Given the description of an element on the screen output the (x, y) to click on. 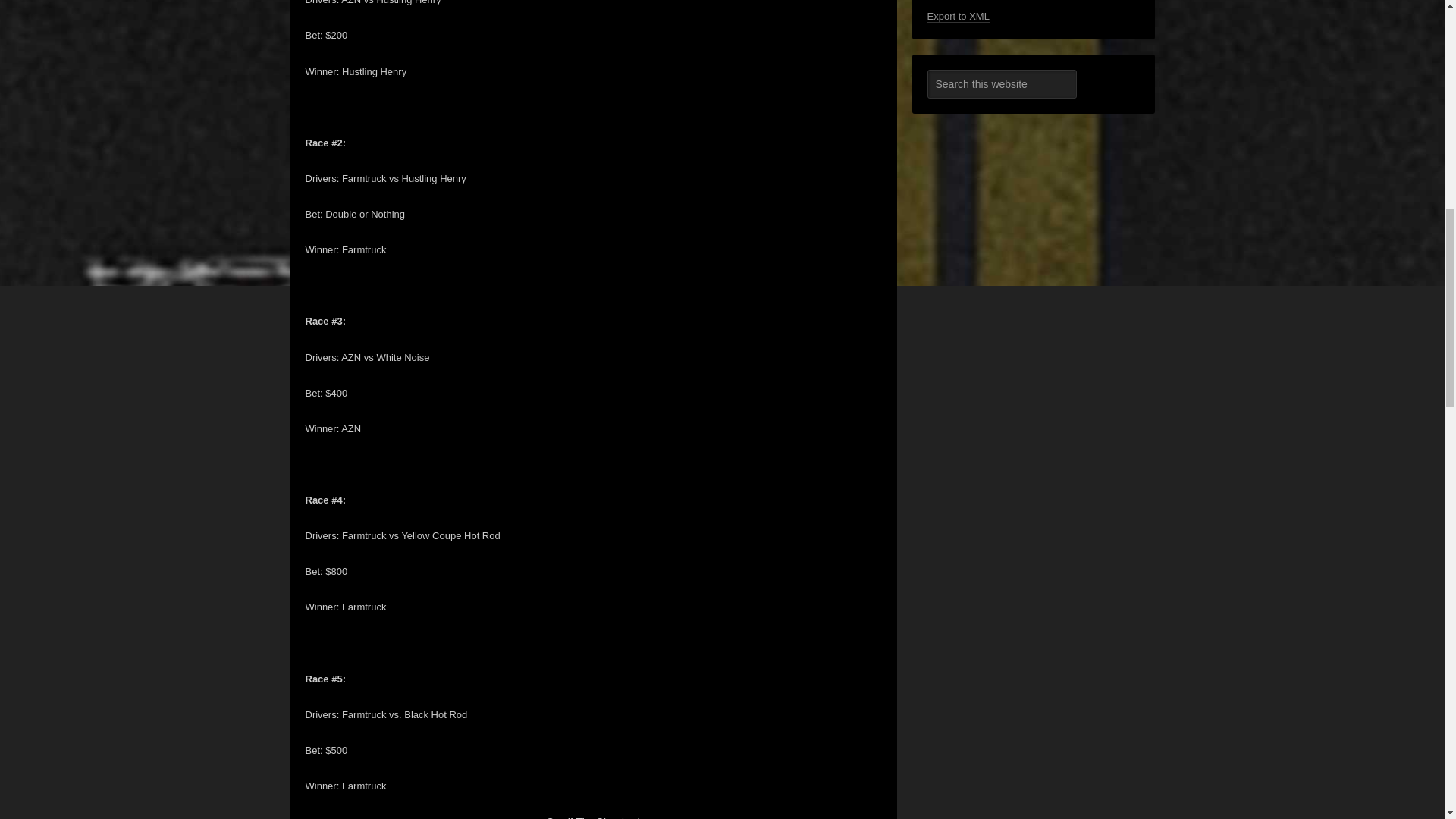
Subscribe to this calendar in another plain-text calendar (973, 1)
